Given the description of an element on the screen output the (x, y) to click on. 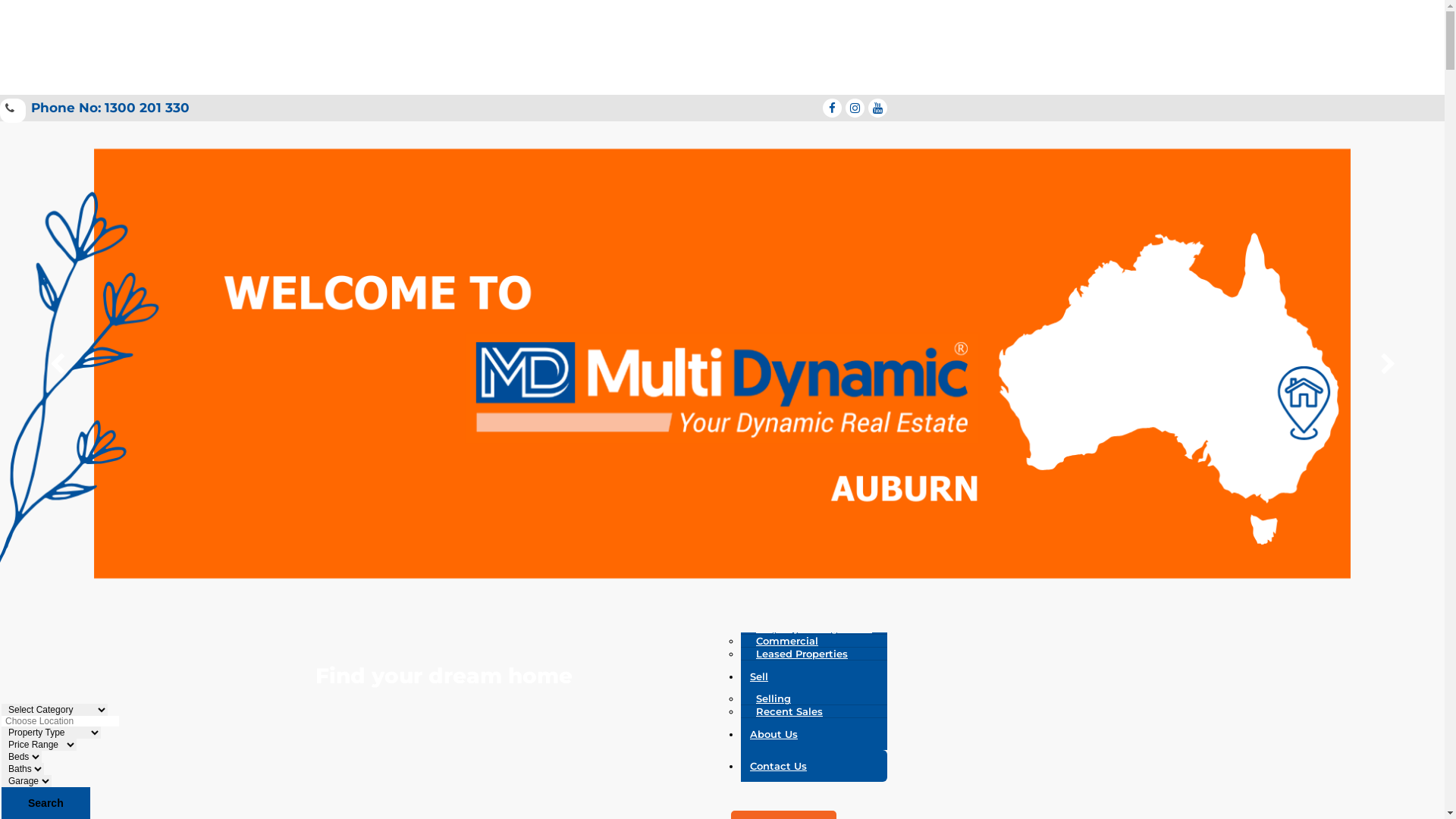
Property Management Element type: text (813, 627)
Residential Element type: text (784, 614)
Recent Sales Element type: text (788, 710)
Commercial Element type: text (786, 544)
Land Element type: text (768, 531)
Selling Element type: text (773, 698)
Commercial Element type: text (786, 640)
Sell Element type: text (813, 676)
House & Land Element type: text (791, 518)
facesaldfjas;fkj;salfdj Element type: hover (831, 107)
Unit/Apartment Element type: text (796, 460)
Home Element type: text (813, 394)
House & Land Element type: text (791, 447)
Rental Element type: text (772, 601)
Projects Element type: text (813, 426)
Rent Element type: text (813, 580)
Contact Us Element type: text (813, 765)
Buy Element type: text (813, 483)
Rural Element type: text (768, 557)
Leased Properties Element type: text (801, 653)
About Us Element type: text (813, 733)
Toggle navigation Element type: text (6, 123)
Residential Element type: text (784, 505)
Phone No: 1300 201 330 Element type: text (94, 107)
